Given the description of an element on the screen output the (x, y) to click on. 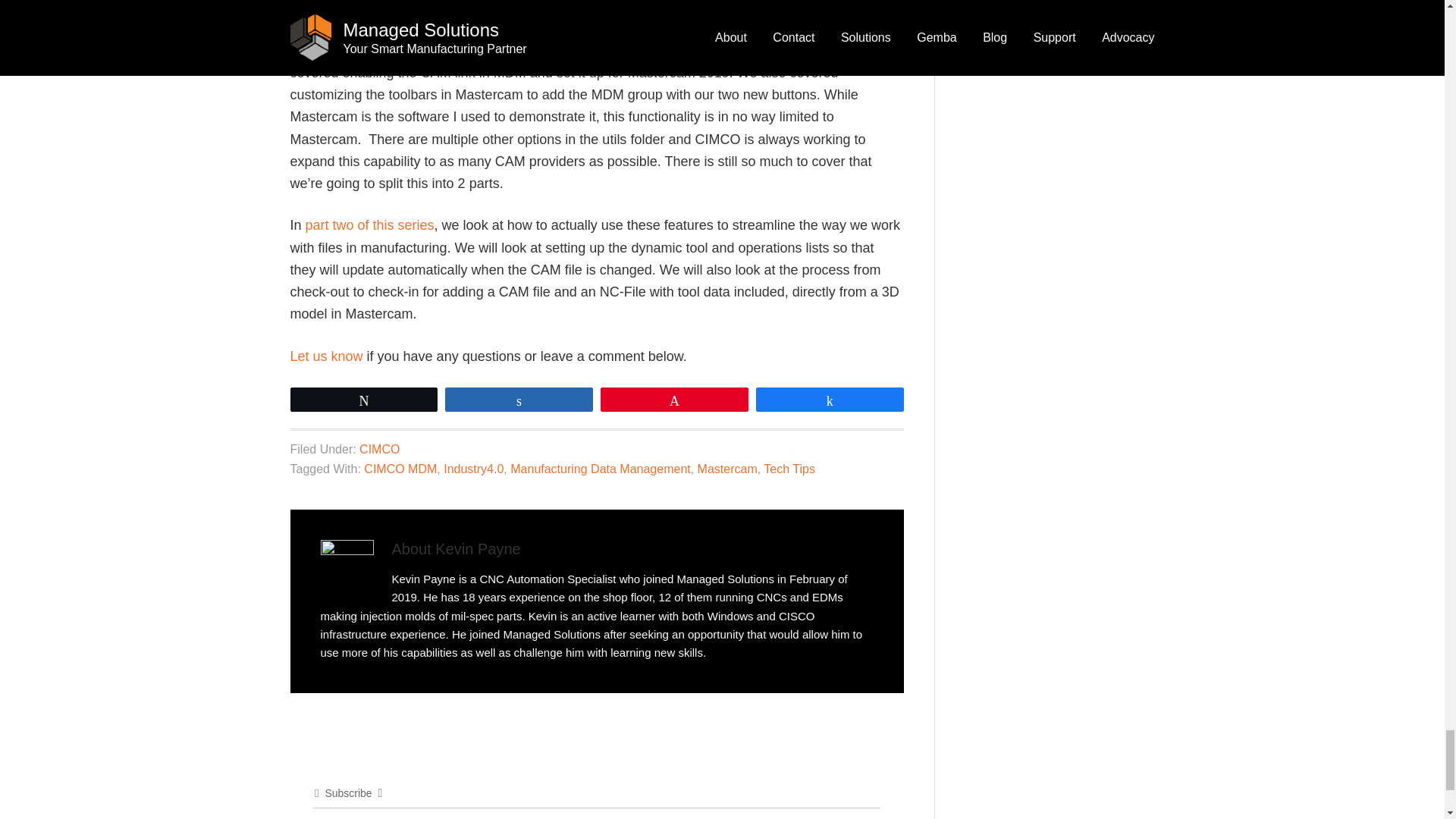
Mastercam (727, 468)
Industry4.0 (473, 468)
CIMCO (378, 449)
Let us know (325, 355)
part two of this series (369, 224)
CIMCO MDM (400, 468)
Tech Tips (788, 468)
Manufacturing Data Management (600, 468)
